Given the description of an element on the screen output the (x, y) to click on. 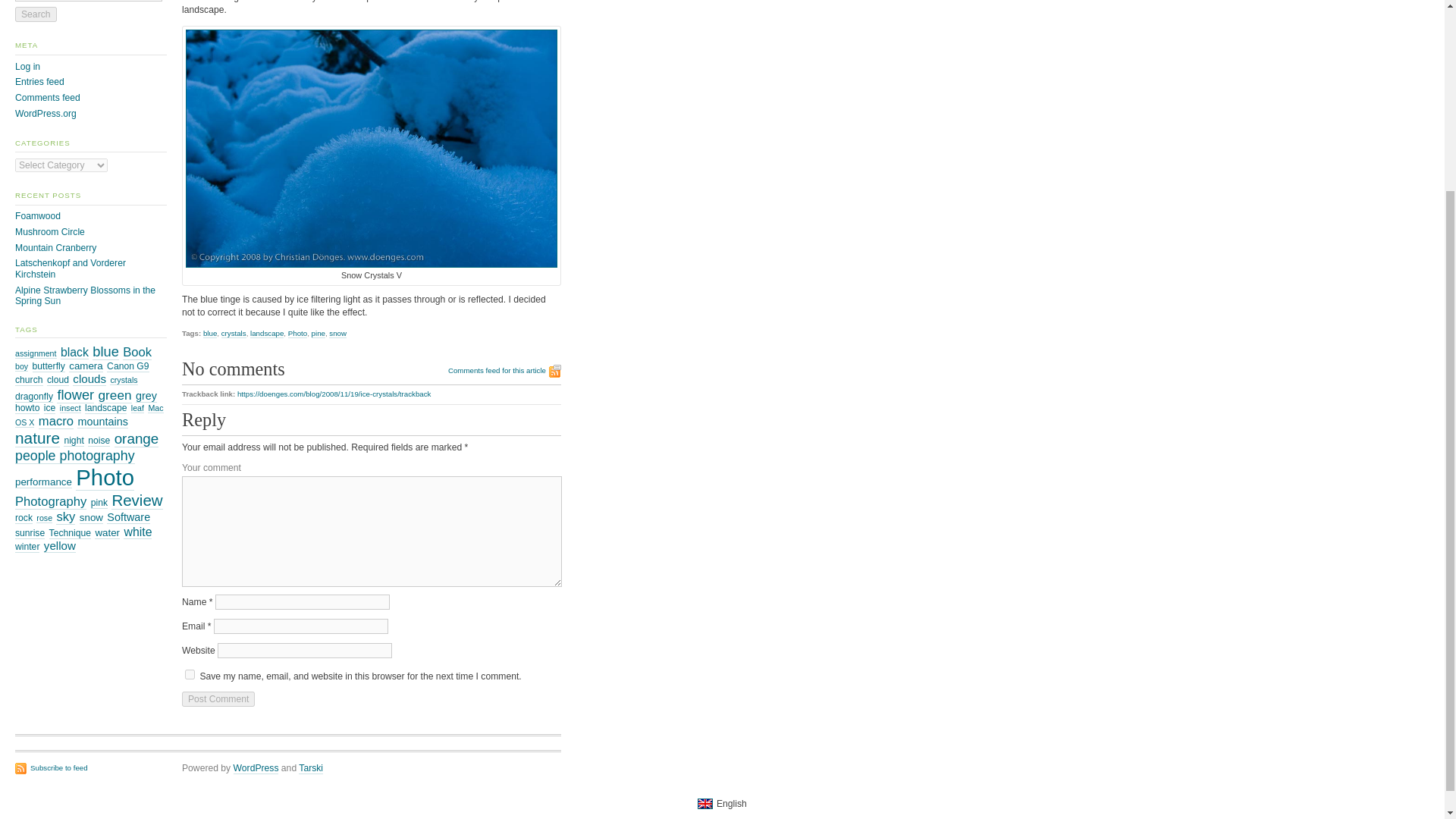
Search (35, 14)
Mushroom Circle (49, 231)
Post Comment (218, 698)
Foamwood (37, 215)
black (74, 352)
Post Comment (218, 698)
Comments feed for this article (504, 371)
blue (209, 333)
Snow Crystals V (371, 148)
crystals (233, 333)
